Given the description of an element on the screen output the (x, y) to click on. 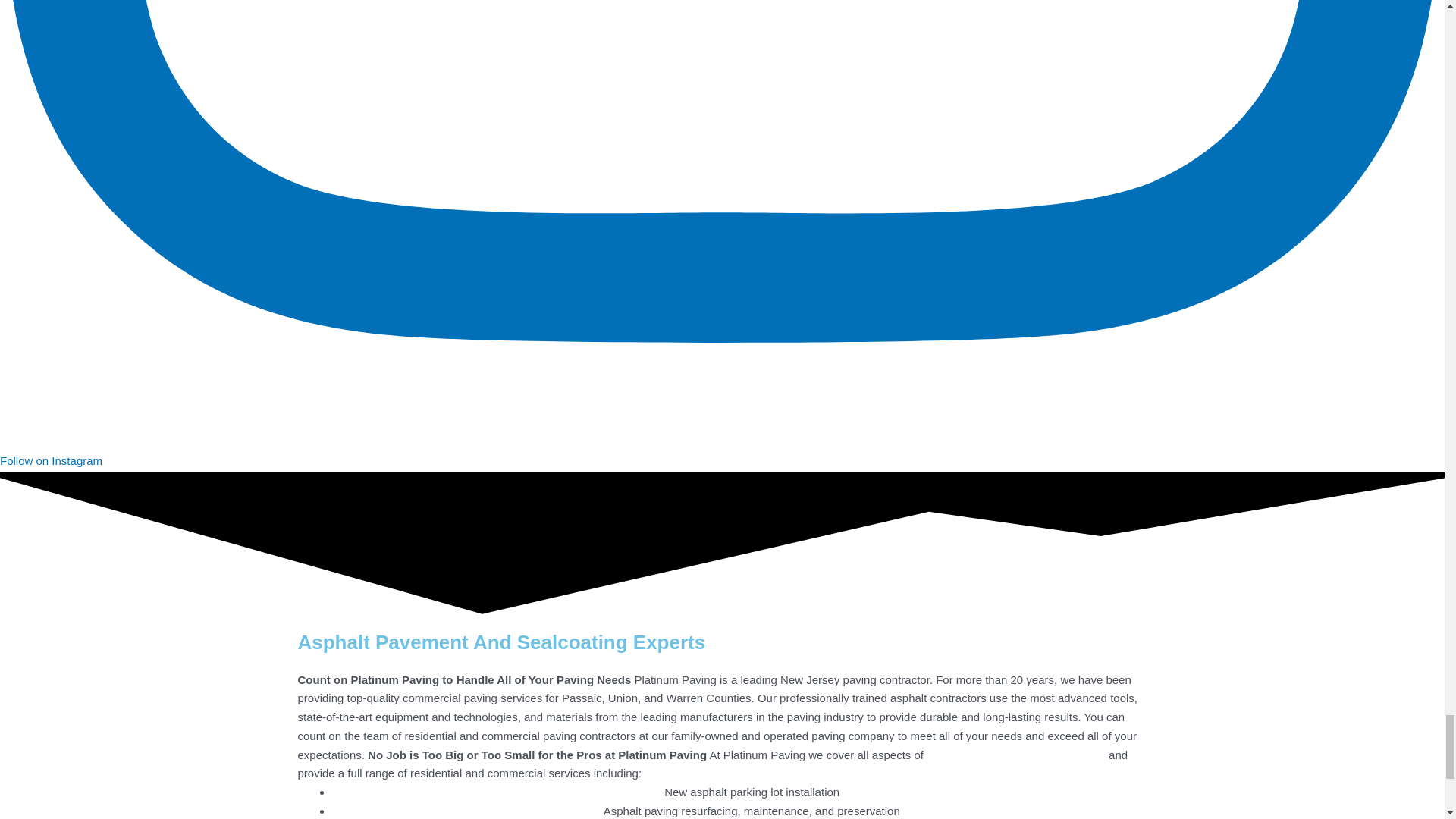
asphalt paving in Morris County, NJ (1015, 754)
